Given the description of an element on the screen output the (x, y) to click on. 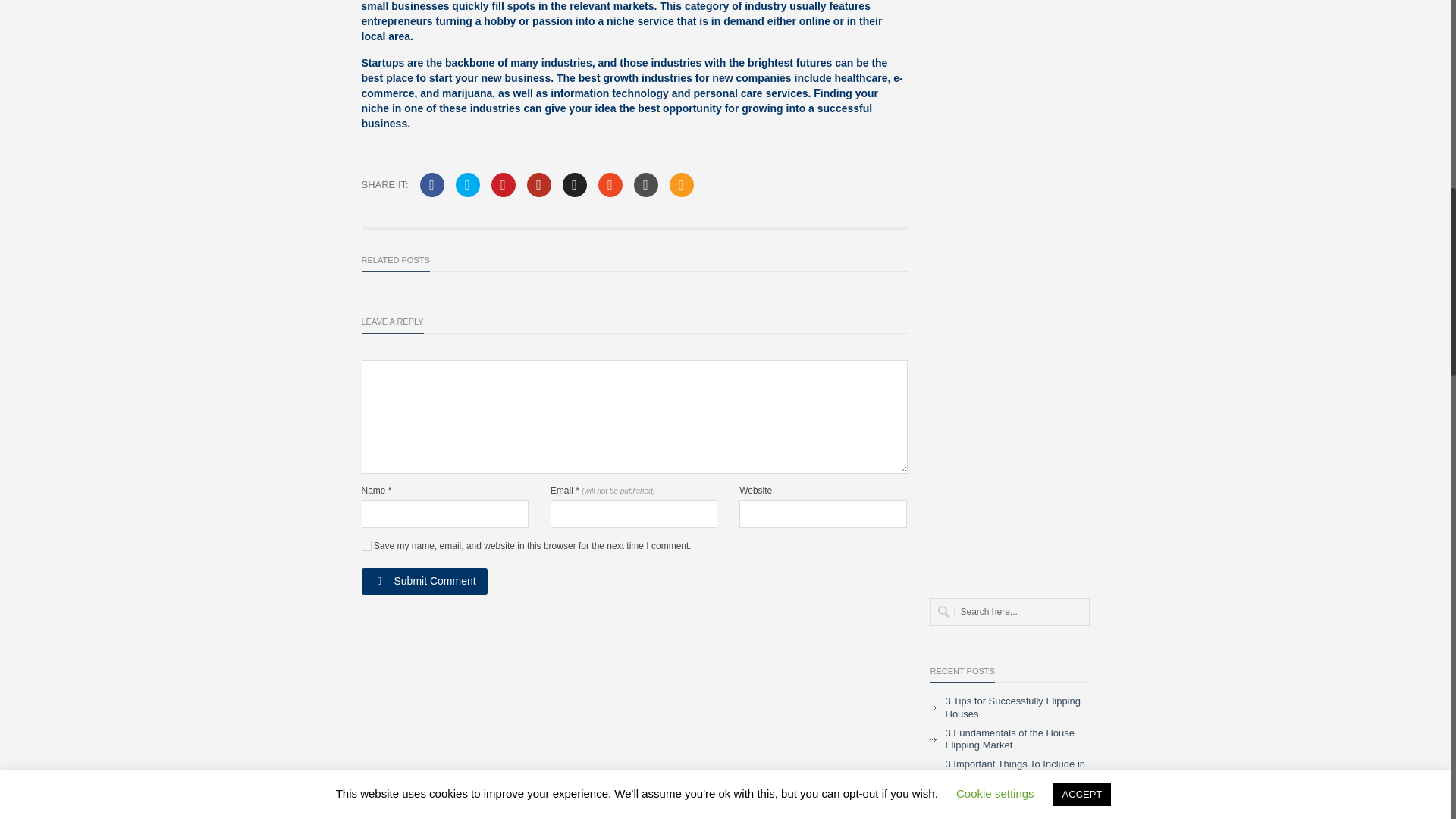
Search here... (1009, 611)
yes (366, 545)
